Given the description of an element on the screen output the (x, y) to click on. 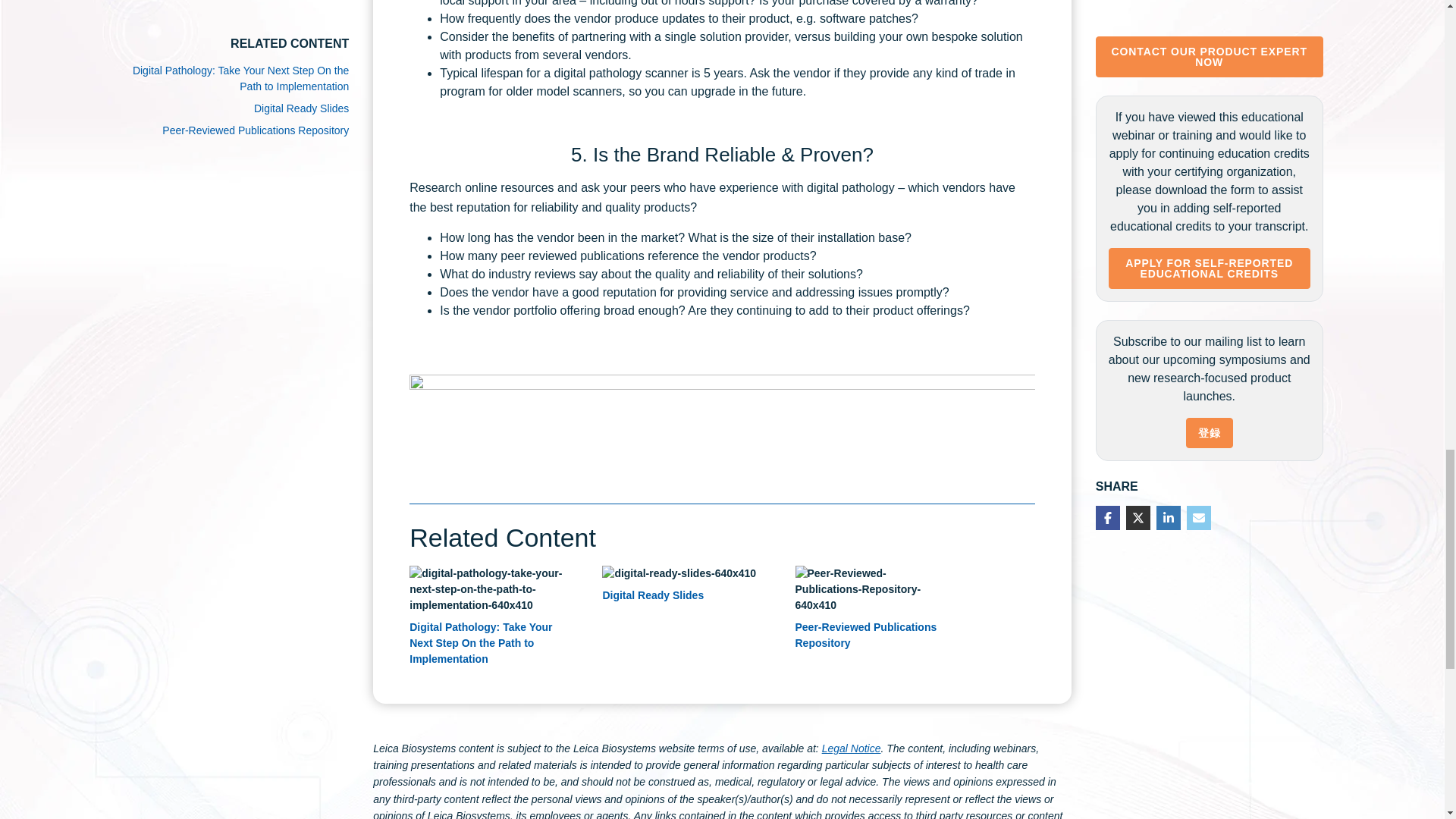
digital-ready-slides-640x410 (678, 573)
Peer-Reviewed-Publications-Repository-640x410 (872, 589)
